Given the description of an element on the screen output the (x, y) to click on. 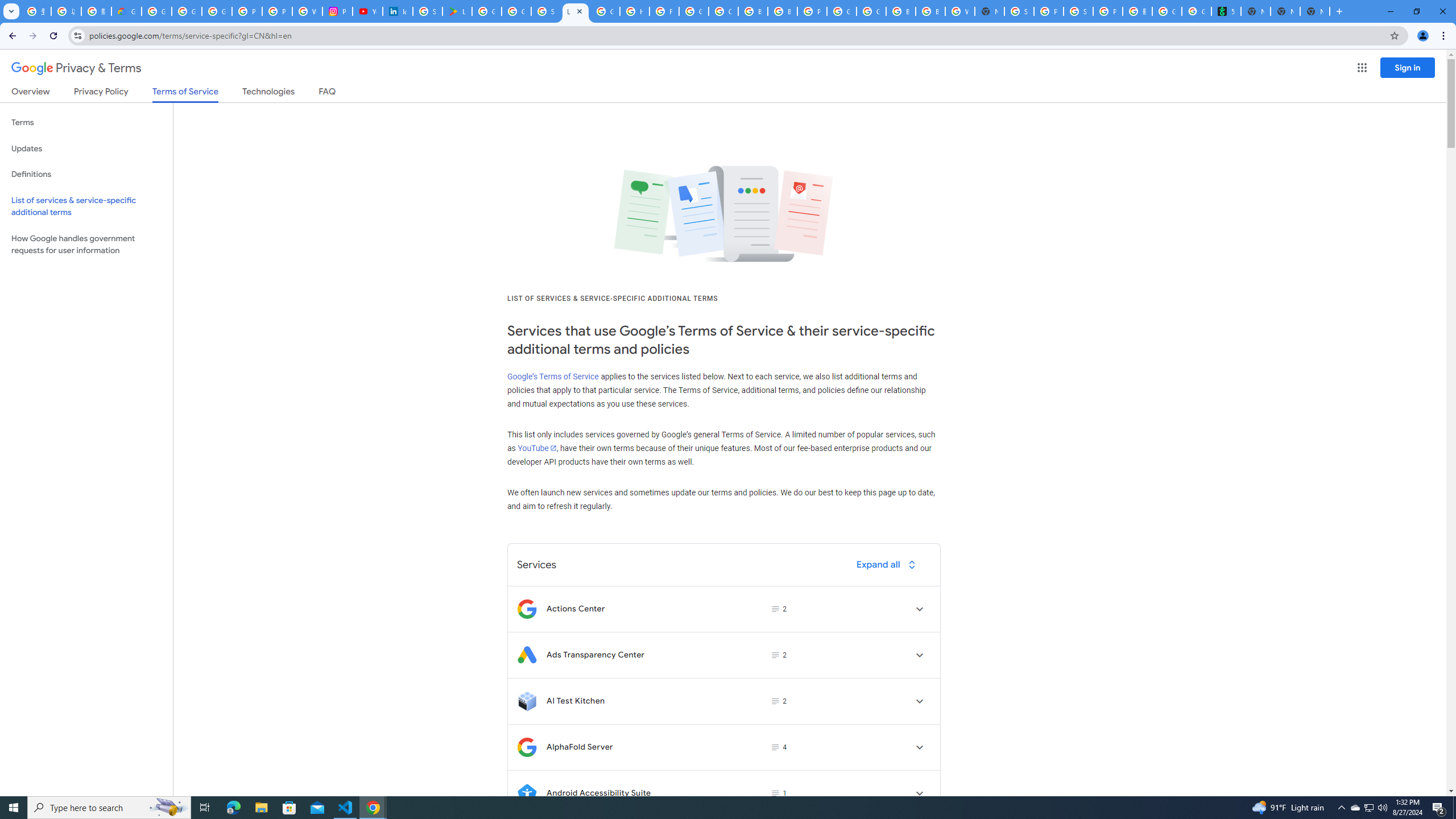
New Tab (1338, 11)
Updates (86, 148)
Logo for AlphaFold Server (526, 746)
Google apps (1362, 67)
Address and search bar (735, 35)
Logo for Actions Center (526, 608)
Logo for AI Test Kitchen (526, 700)
Minimize (1390, 11)
Logo for Android Accessibility Suite (526, 792)
Definitions (86, 174)
